Given the description of an element on the screen output the (x, y) to click on. 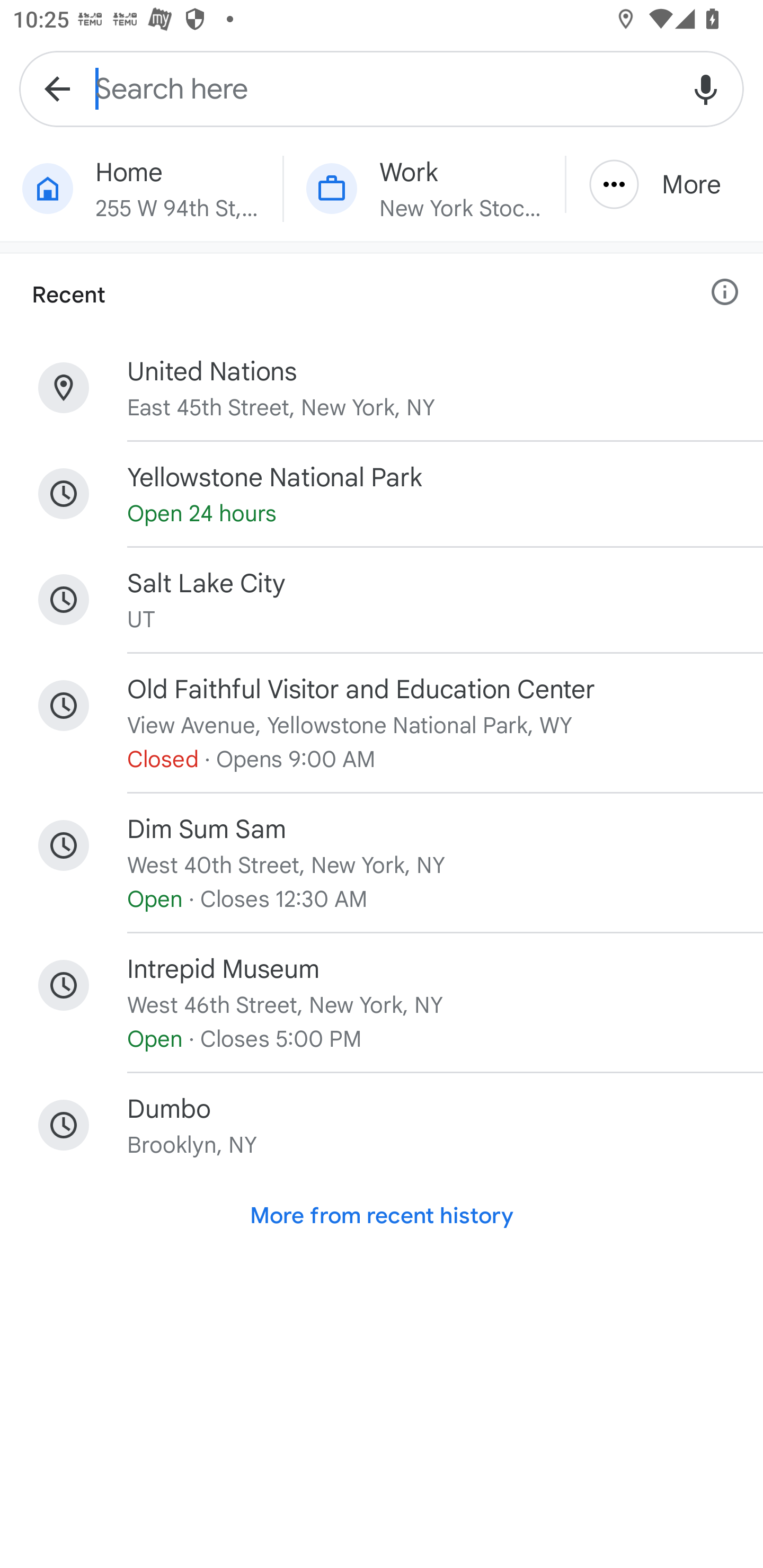
Navigate up (57, 88)
Search here (381, 88)
Voice search (705, 88)
More (664, 184)
United Nations East 45th Street, New York, NY (381, 387)
Yellowstone National Park Open 24 hours (381, 493)
Salt Lake City UT (381, 599)
Dumbo Brooklyn, NY (381, 1124)
More from recent history (381, 1215)
